Given the description of an element on the screen output the (x, y) to click on. 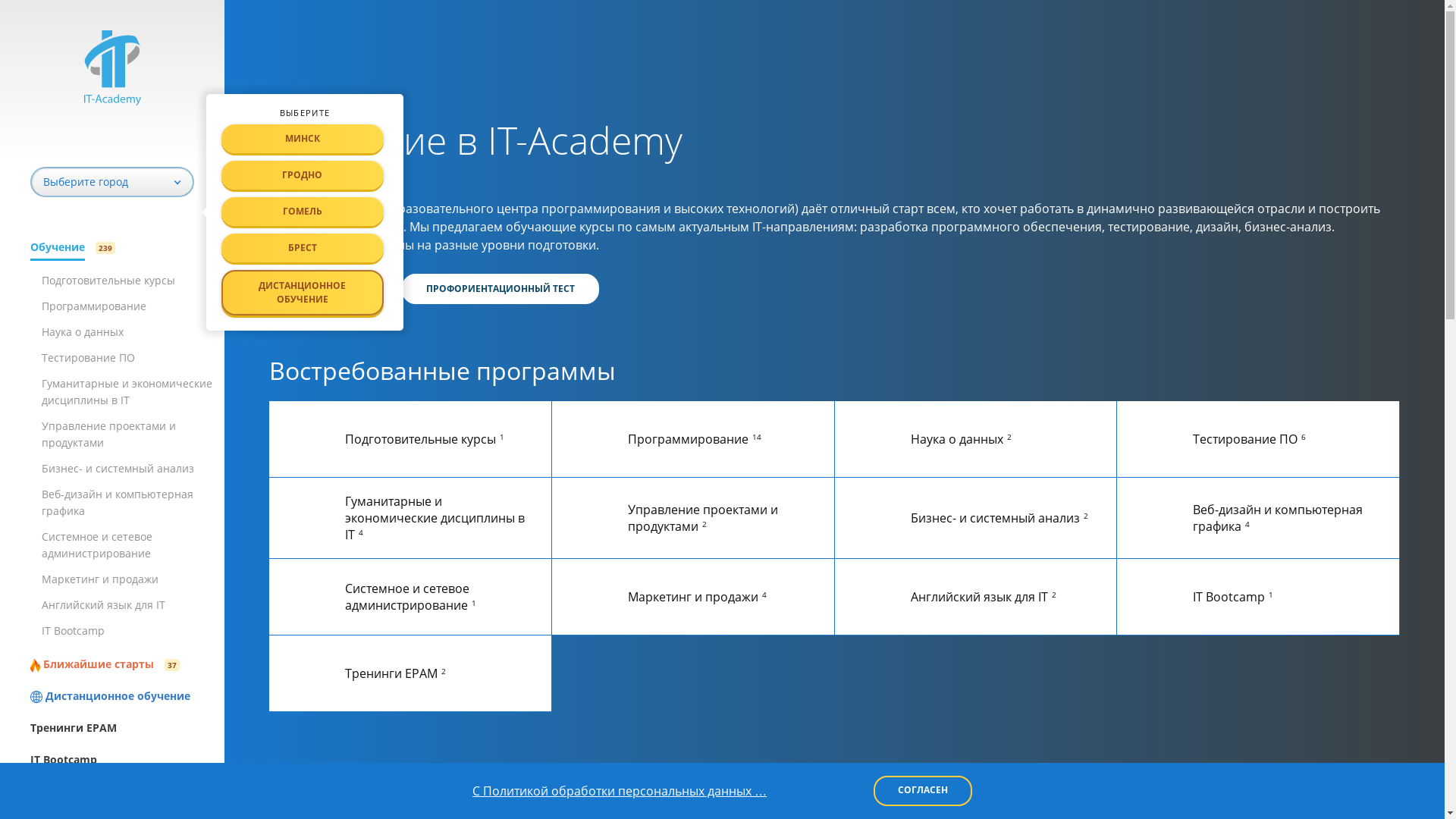
IT Bootcamp Element type: text (72, 630)
IT-Academy Element type: text (294, 99)
IT Bootcamp1 Element type: text (1258, 596)
IT Bootcamp Element type: text (127, 759)
